Given the description of an element on the screen output the (x, y) to click on. 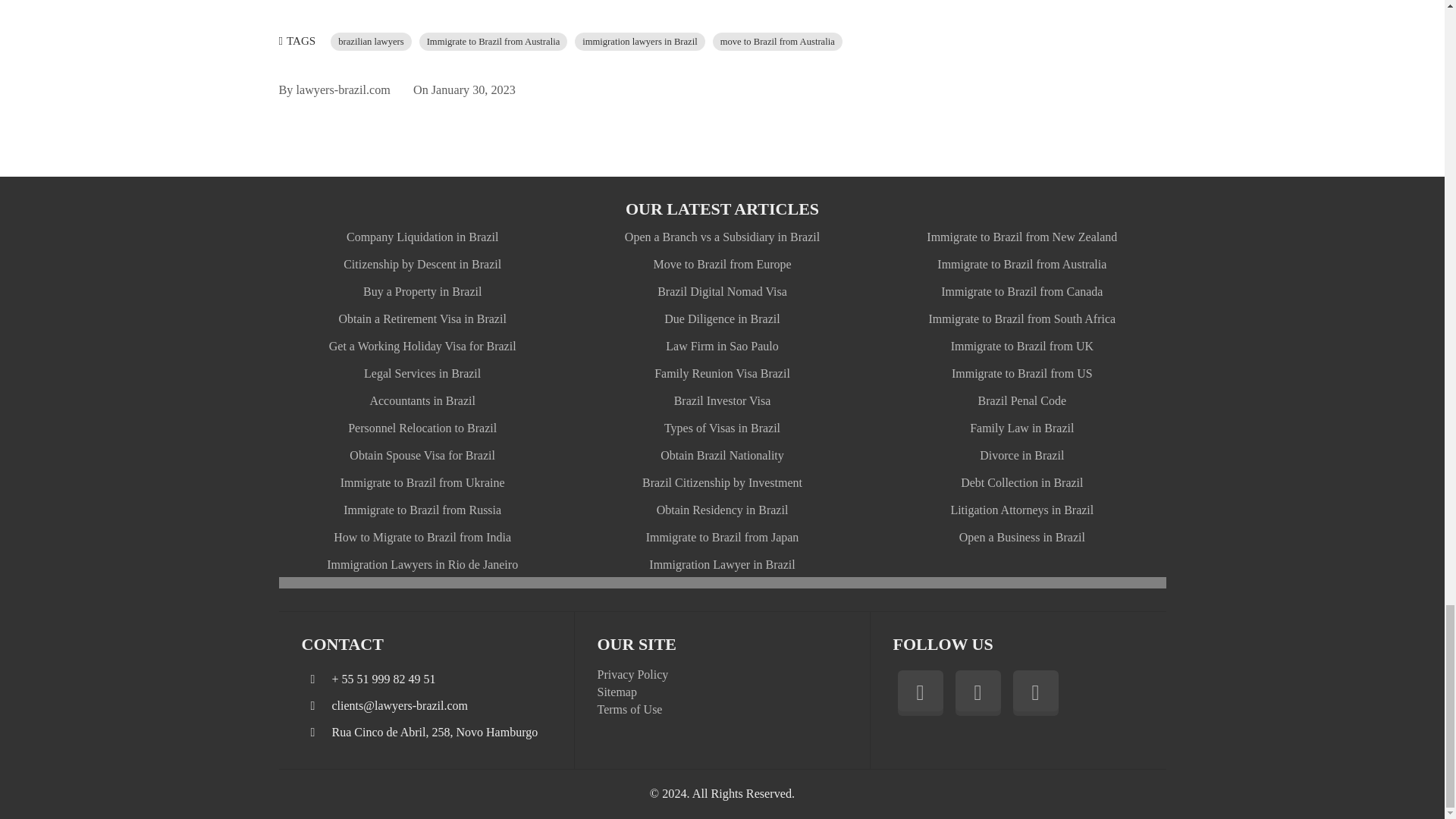
immigration lawyers in Brazil (639, 41)
move to Brazil from Australia (778, 41)
Immigrate to Brazil from Australia (493, 41)
brazilian lawyers (370, 41)
